Given the description of an element on the screen output the (x, y) to click on. 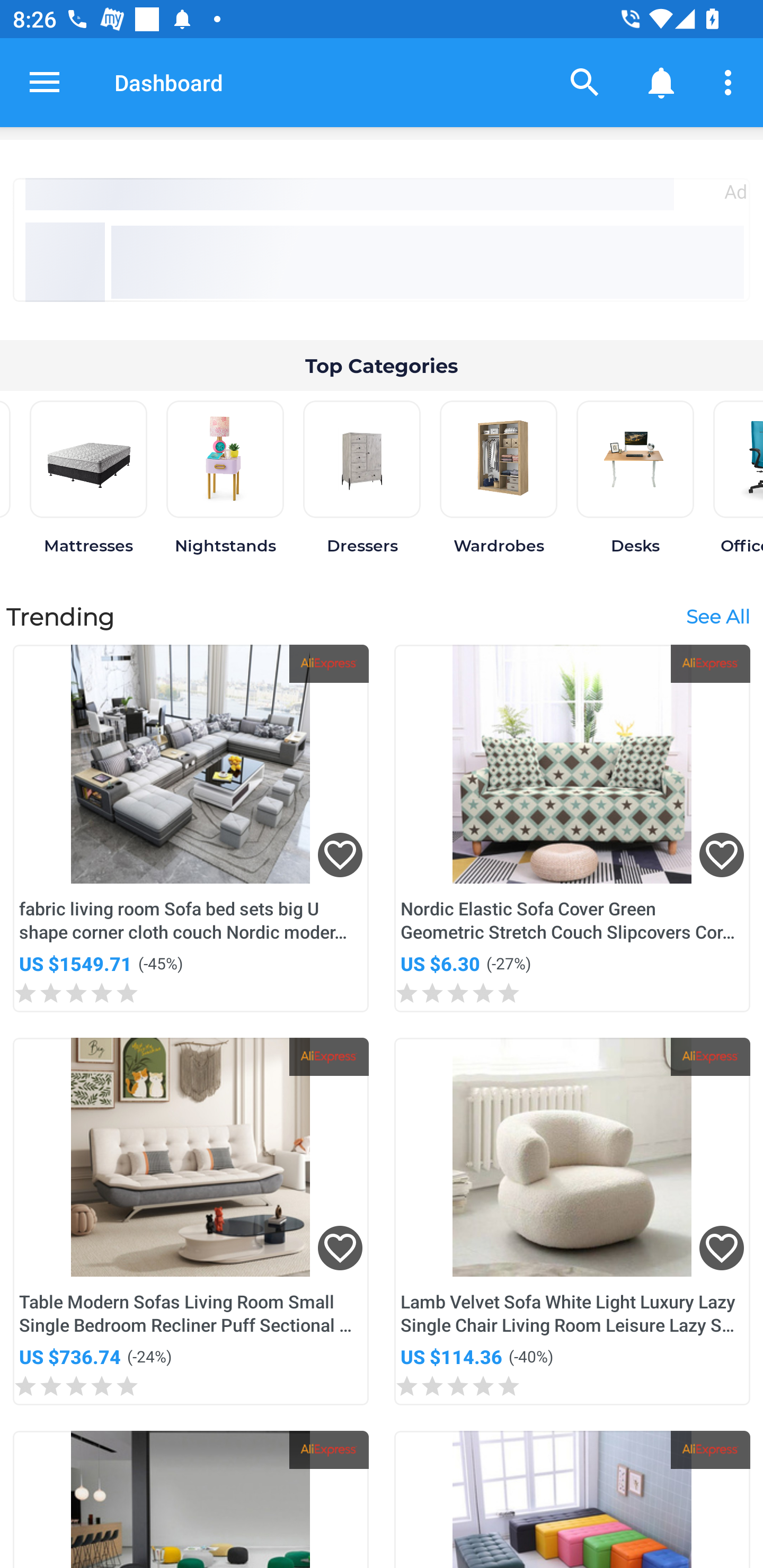
Open navigation drawer (44, 82)
Search (585, 81)
More options (731, 81)
See All (717, 615)
